Given the description of an element on the screen output the (x, y) to click on. 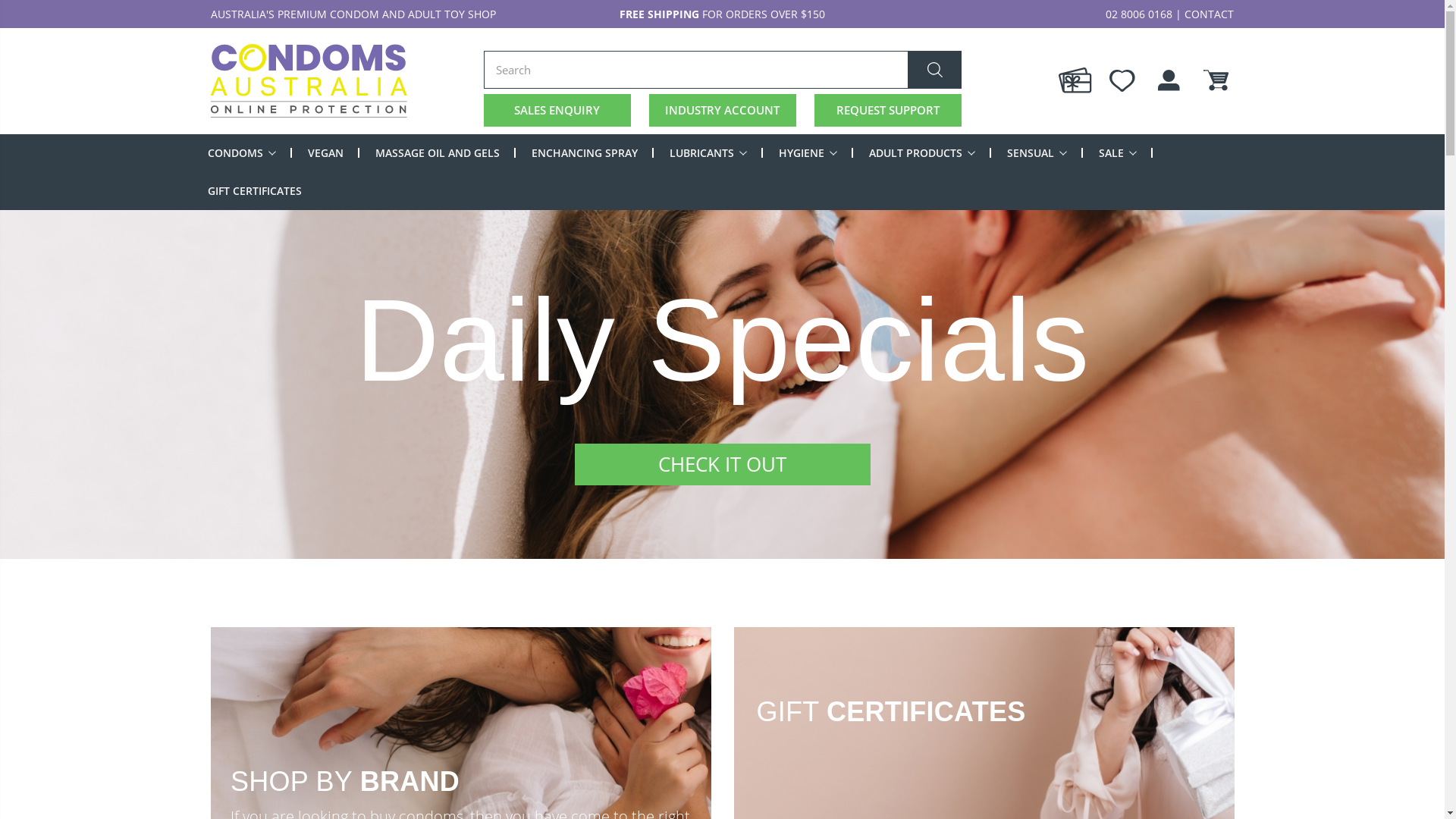
REQUEST SUPPORT Element type: text (887, 110)
MASSAGE OIL AND GELS Element type: text (436, 152)
CHECK IT OUT Element type: text (722, 464)
CONTACT Element type: text (1208, 13)
SENSUAL Element type: text (1036, 152)
SALES ENQUIRY Element type: text (556, 110)
SALE Element type: text (1116, 152)
INDUSTRY ACCOUNT Element type: text (722, 110)
CONDOMS Element type: text (241, 152)
02 8006 0168 Element type: text (1138, 13)
ENCHANCING SPRAY Element type: text (583, 152)
VEGAN Element type: text (325, 152)
ADULT PRODUCTS Element type: text (922, 152)
HYGIENE Element type: text (807, 152)
GIFT CERTIFICATES Element type: text (254, 190)
LUBRICANTS Element type: text (707, 152)
